Given the description of an element on the screen output the (x, y) to click on. 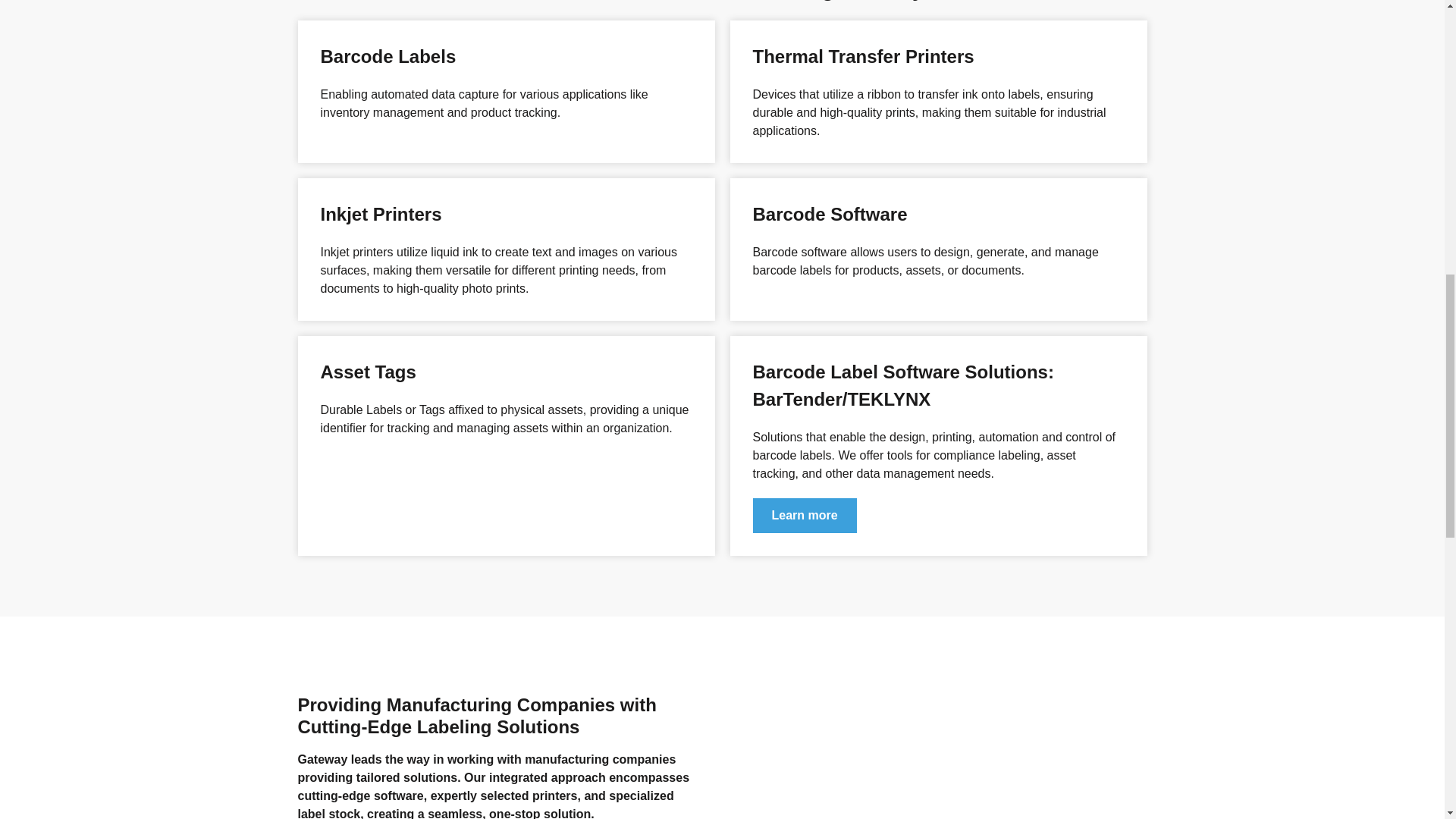
Learn more (804, 515)
